Given the description of an element on the screen output the (x, y) to click on. 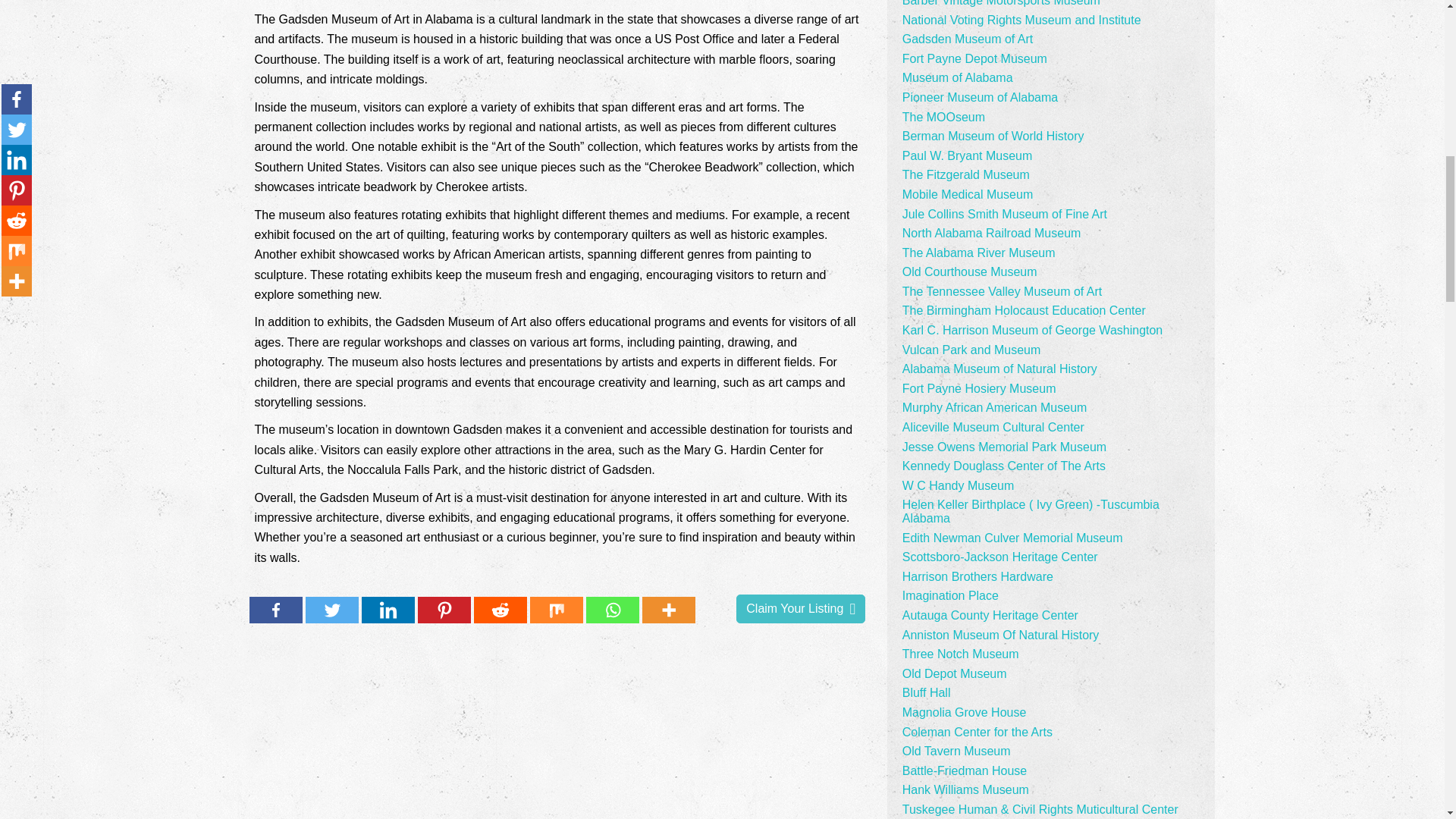
Facebook (275, 610)
Twitter (331, 610)
Linkedin (387, 610)
Reddit (500, 610)
Pinterest (443, 610)
